Given the description of an element on the screen output the (x, y) to click on. 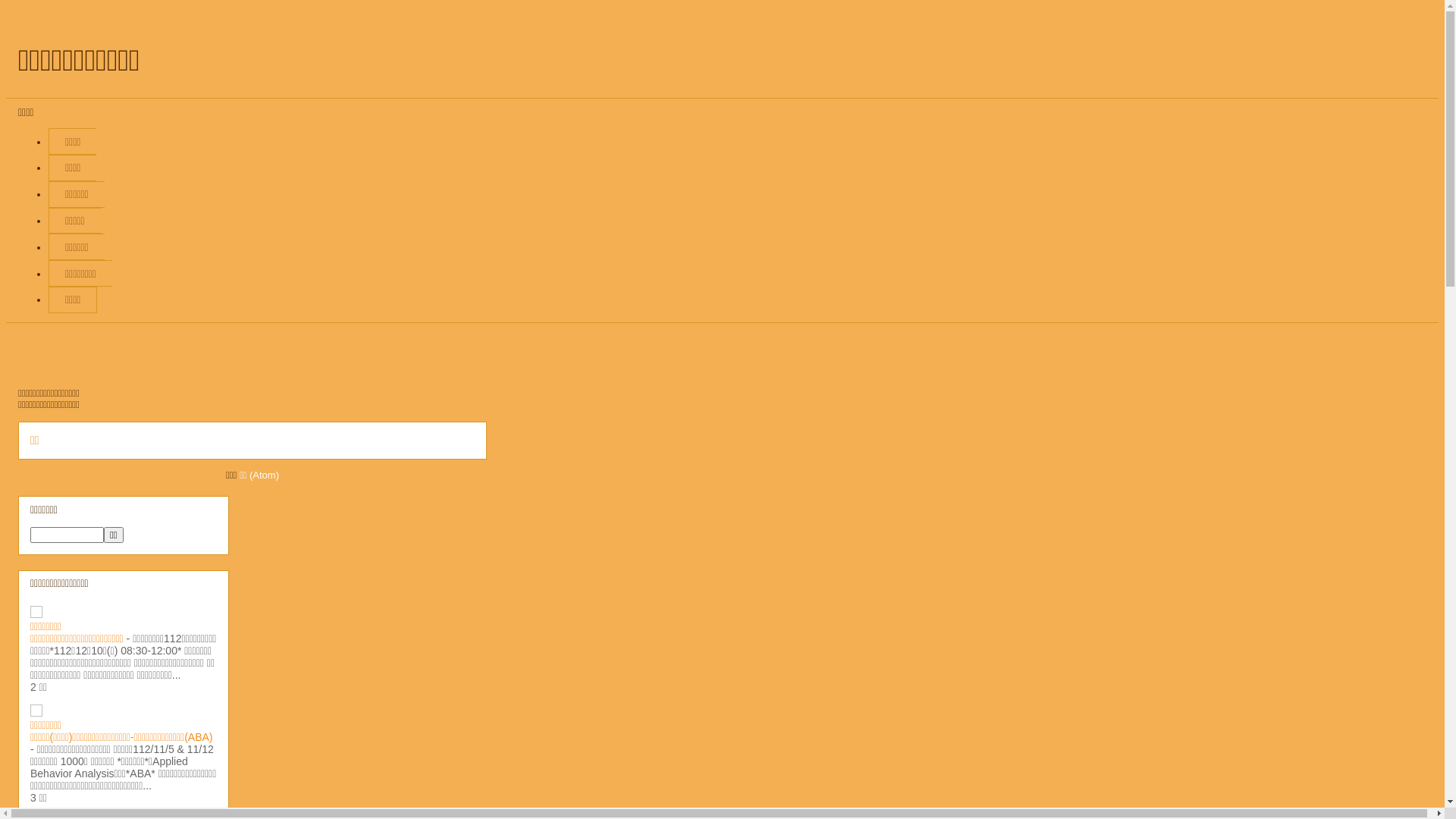
search Element type: hover (66, 534)
search Element type: hover (113, 534)
